Given the description of an element on the screen output the (x, y) to click on. 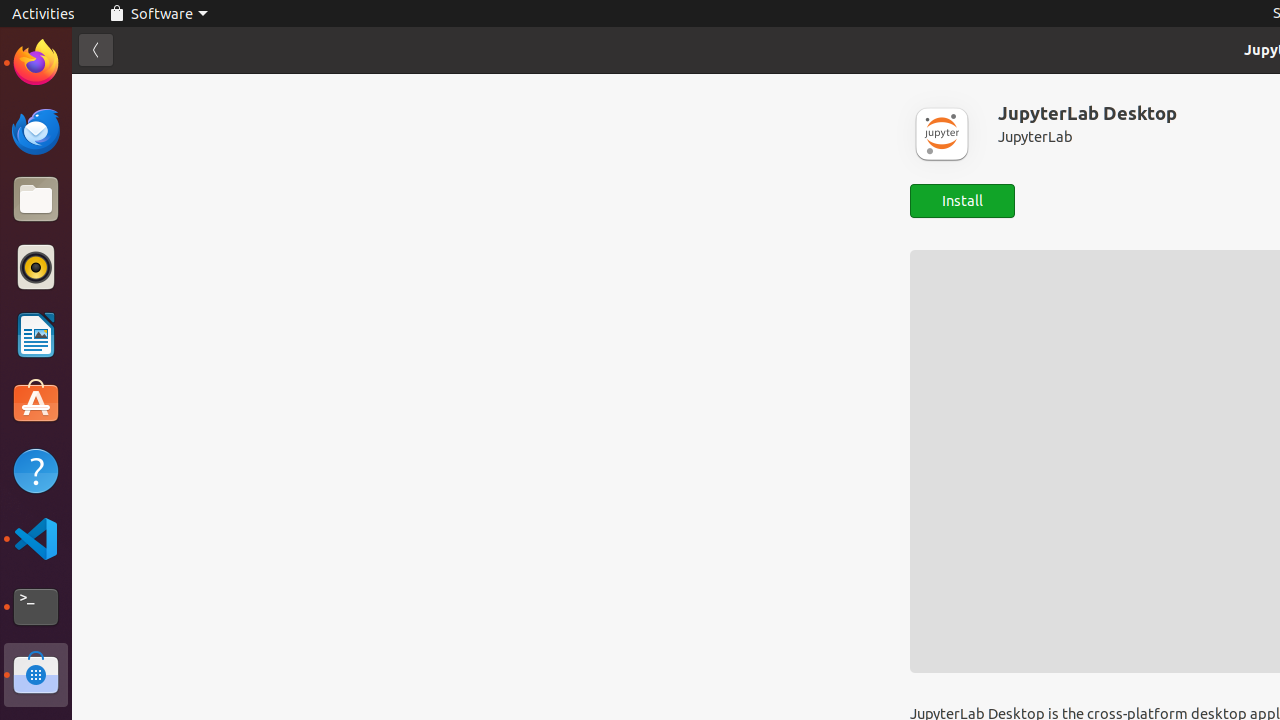
IsaHelpMain.desktop Element type: label (133, 300)
